Given the description of an element on the screen output the (x, y) to click on. 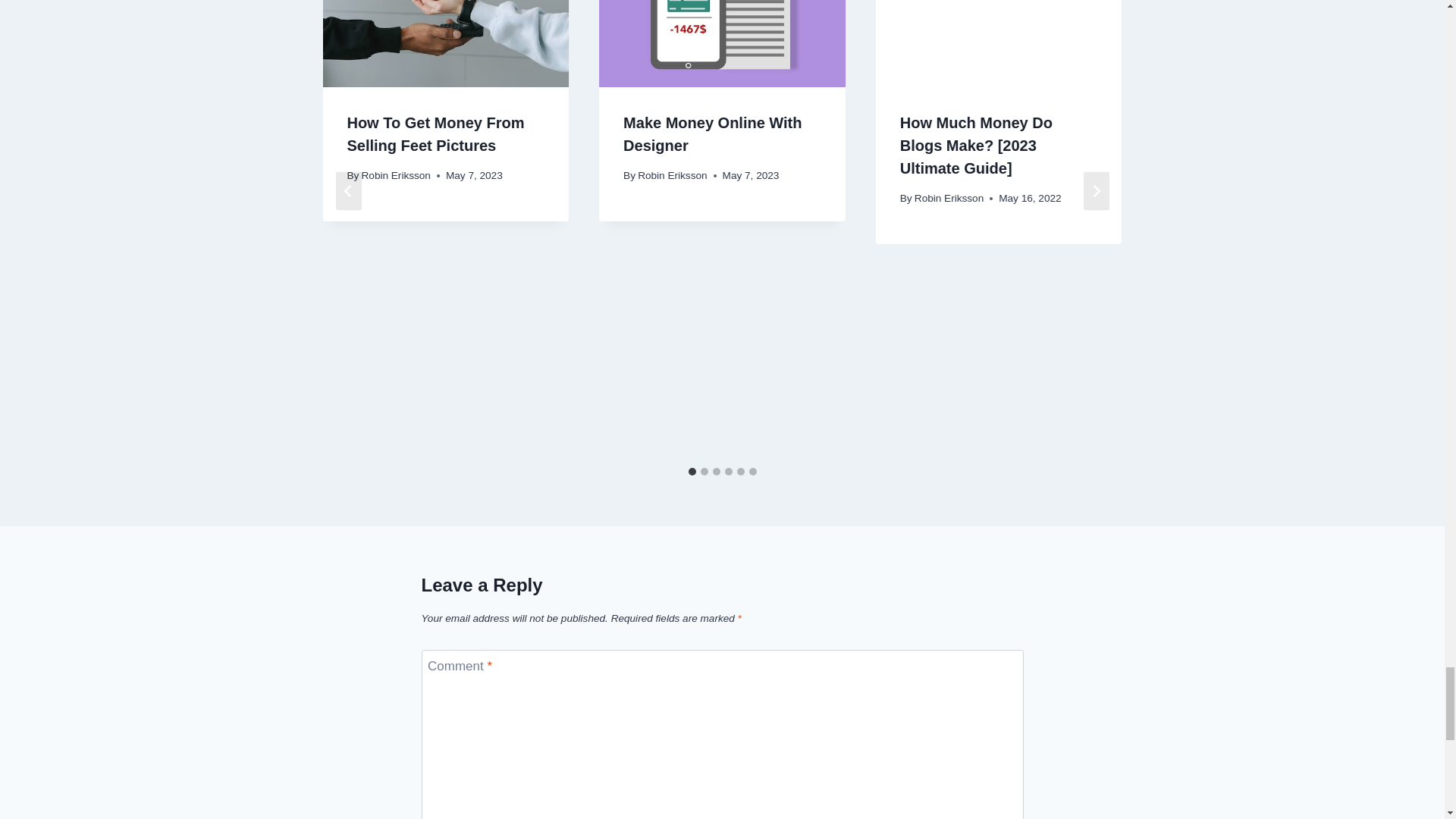
How To Get Money From Selling Feet Pictures 3 (445, 43)
